Given the description of an element on the screen output the (x, y) to click on. 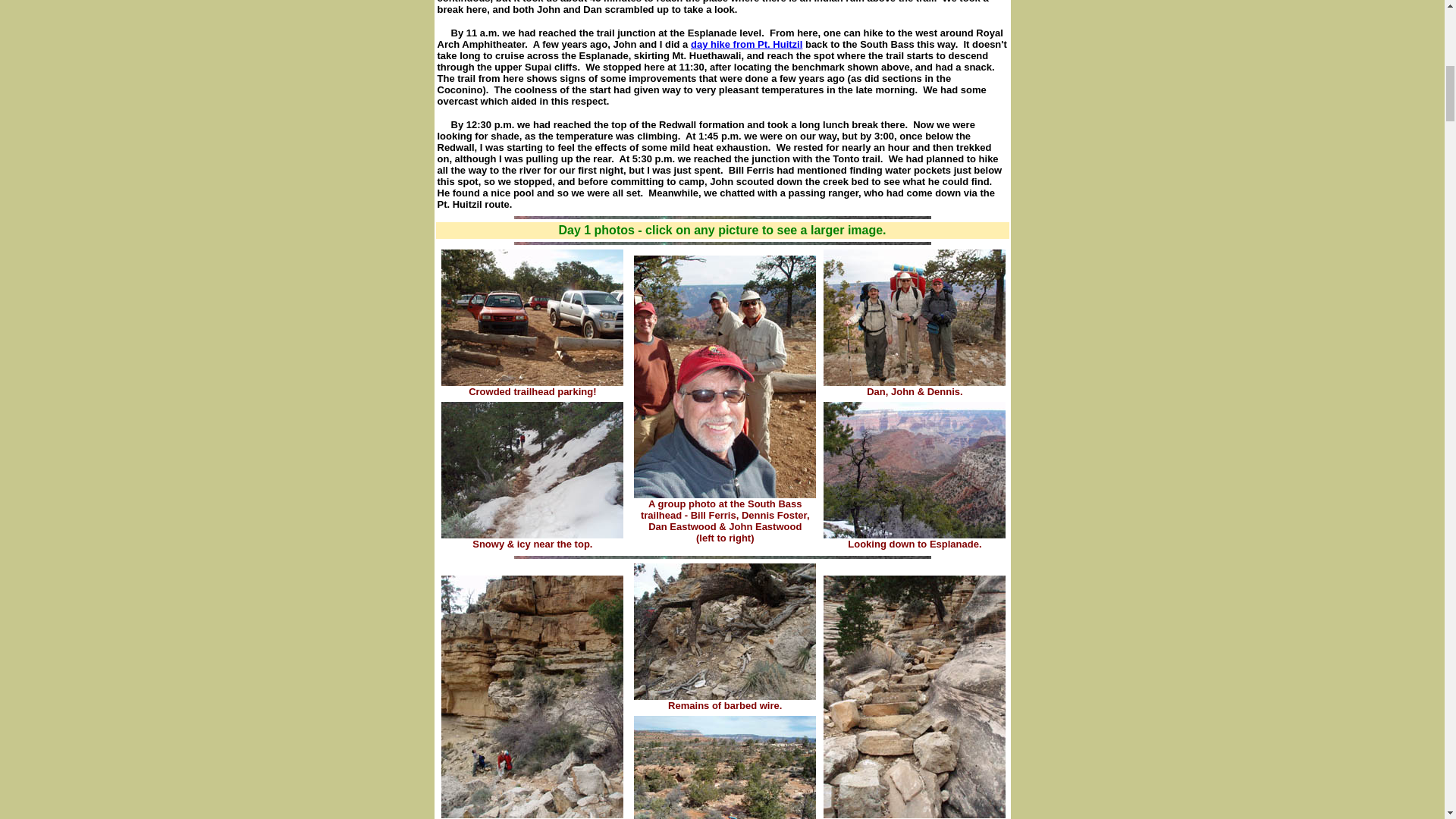
day hike from Pt. Huitzil (746, 43)
